Given the description of an element on the screen output the (x, y) to click on. 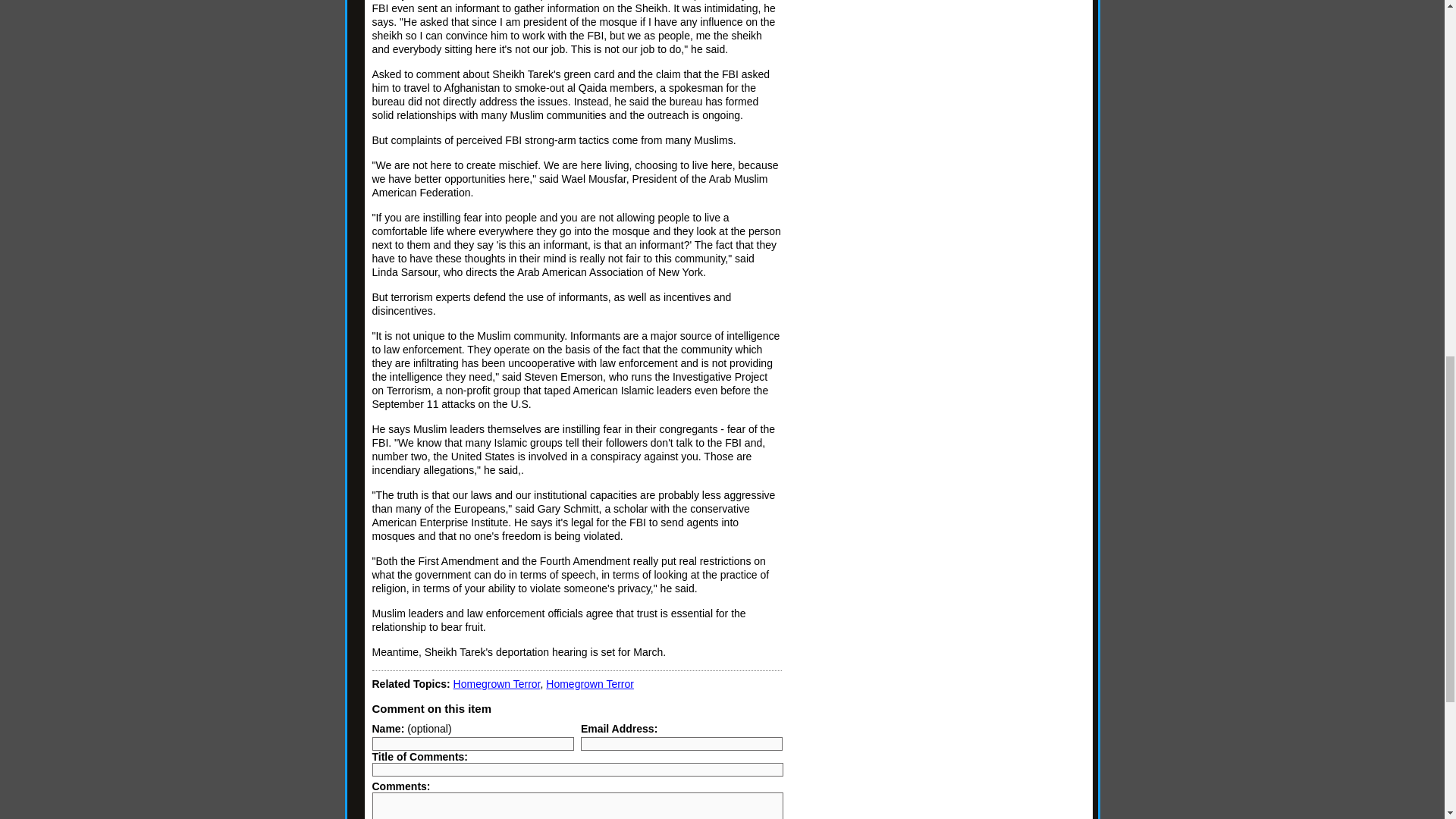
Homegrown Terror (589, 684)
Homegrown Terror (496, 684)
